Given the description of an element on the screen output the (x, y) to click on. 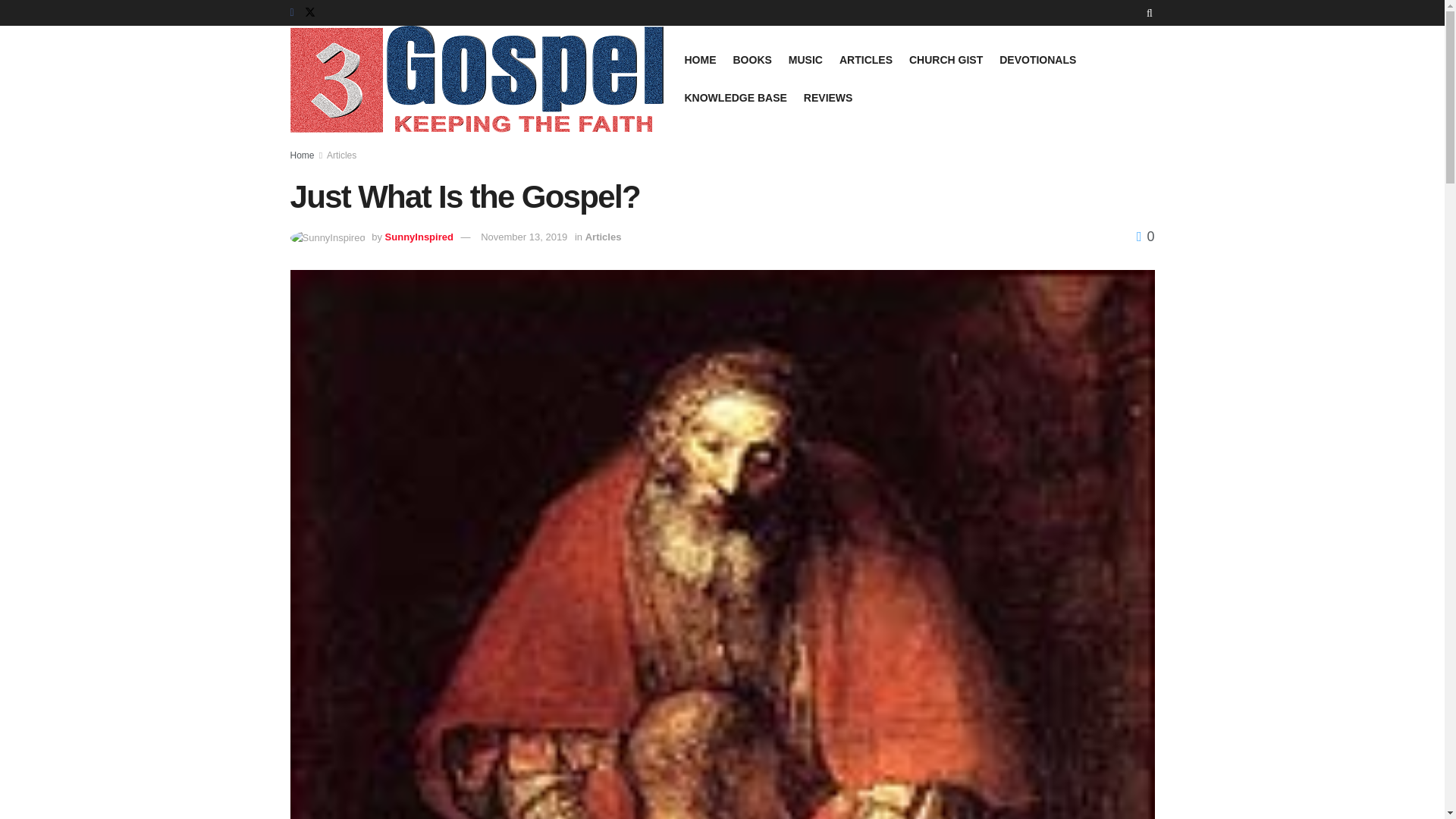
REVIEWS (828, 97)
Home (301, 154)
Articles (603, 236)
Articles (341, 154)
MUSIC (805, 59)
BOOKS (751, 59)
ARTICLES (866, 59)
DEVOTIONALS (1036, 59)
November 13, 2019 (523, 236)
KNOWLEDGE BASE (735, 97)
0 (1145, 236)
HOME (700, 59)
CHURCH GIST (945, 59)
SunnyInspired (418, 236)
